Given the description of an element on the screen output the (x, y) to click on. 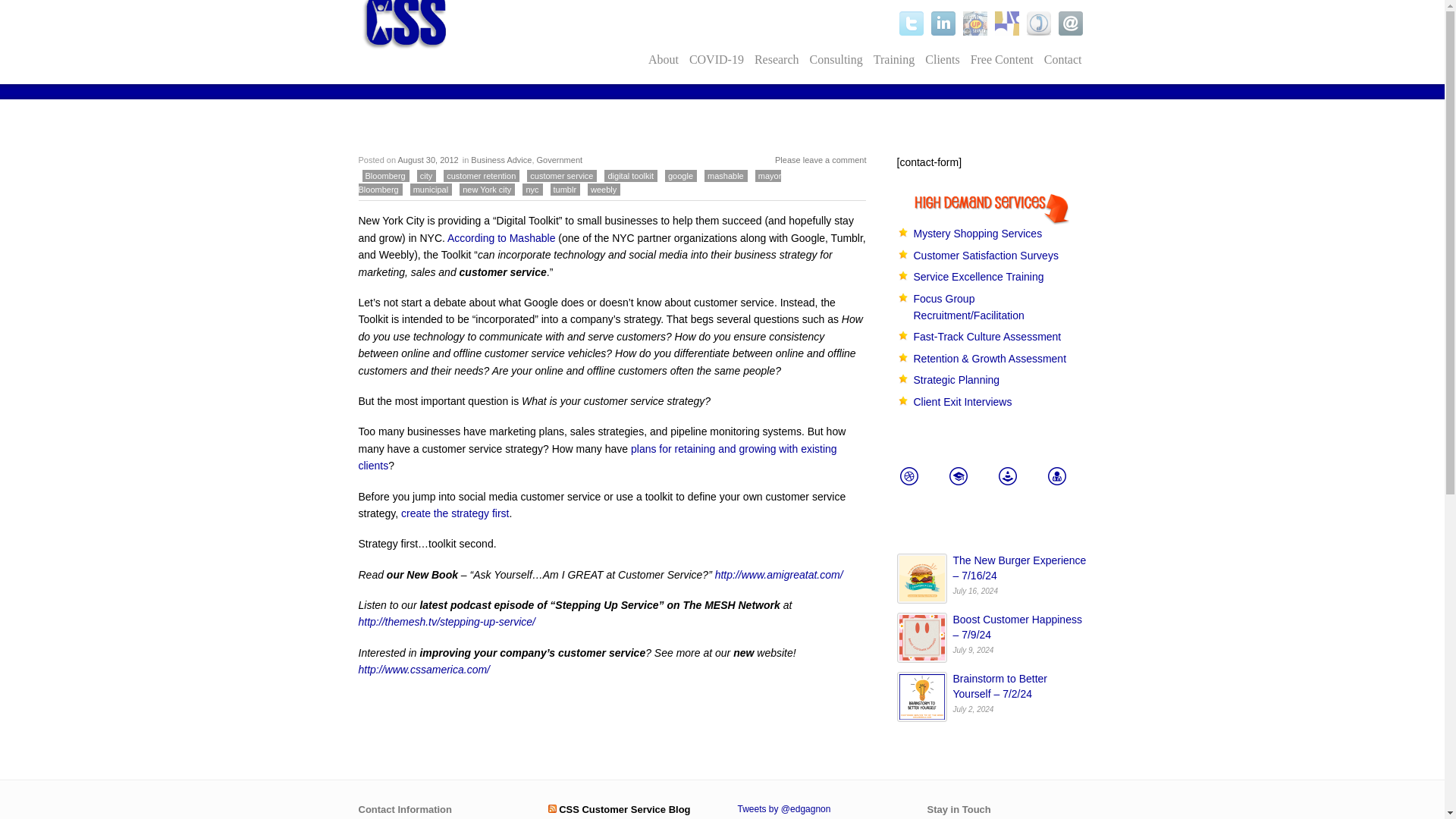
Training (893, 59)
 Stepping Up Service Podcast (974, 23)
 LinkedIn (943, 23)
Clients (941, 59)
 E-mail (1070, 23)
7:24 am (428, 159)
 Service Advice Blog (1006, 23)
Research (777, 59)
About (663, 59)
 Twitter (911, 23)
 Call Us - 704.553.7525 (1038, 23)
COVID-19 (716, 59)
Consulting (836, 59)
